Given the description of an element on the screen output the (x, y) to click on. 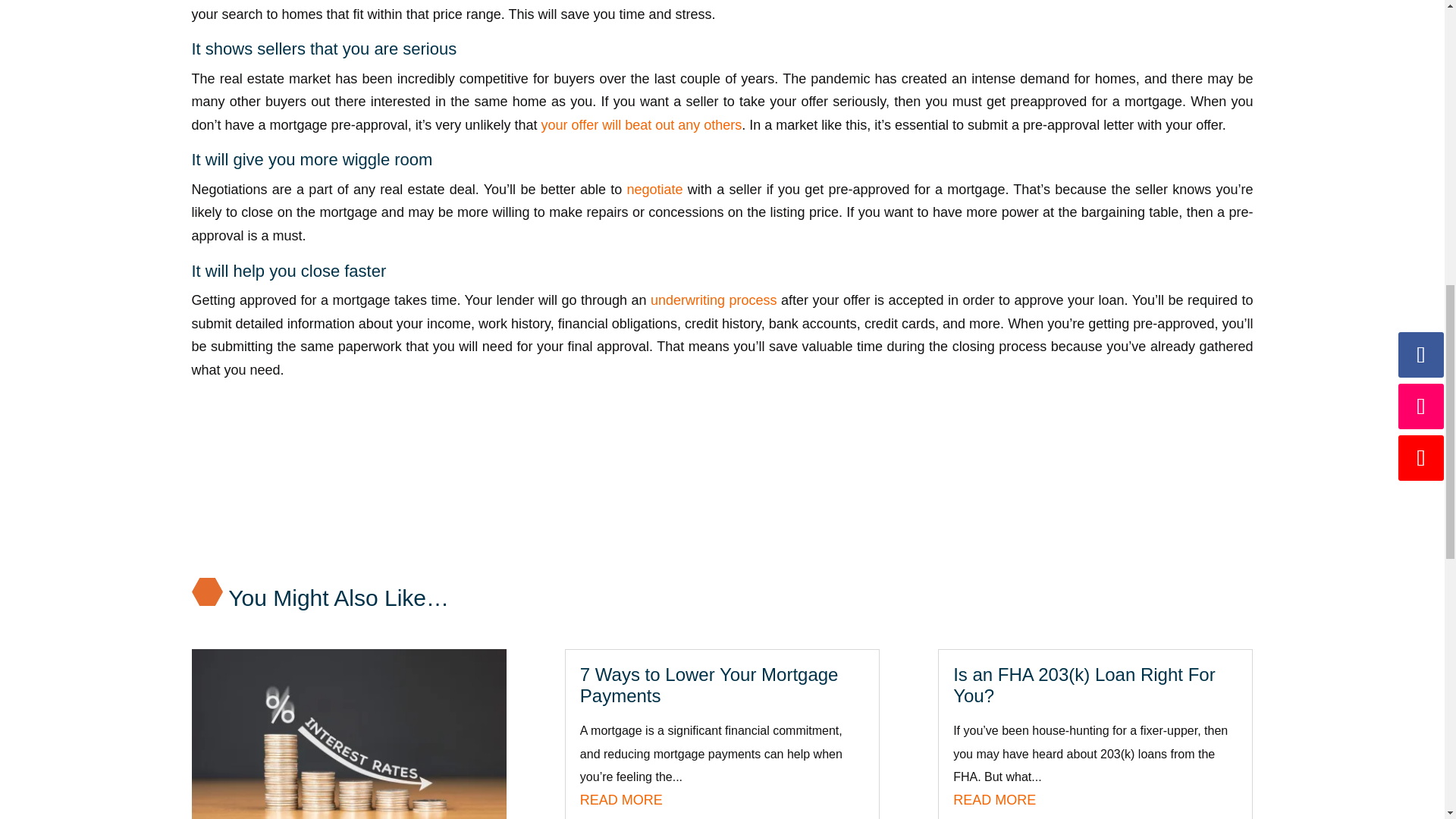
READ MORE (620, 799)
underwriting process (713, 299)
negotiate (657, 189)
READ MORE (994, 799)
7 Ways to Lower Your Mortgage Payments (708, 685)
your offer will beat out any others (640, 124)
